Given the description of an element on the screen output the (x, y) to click on. 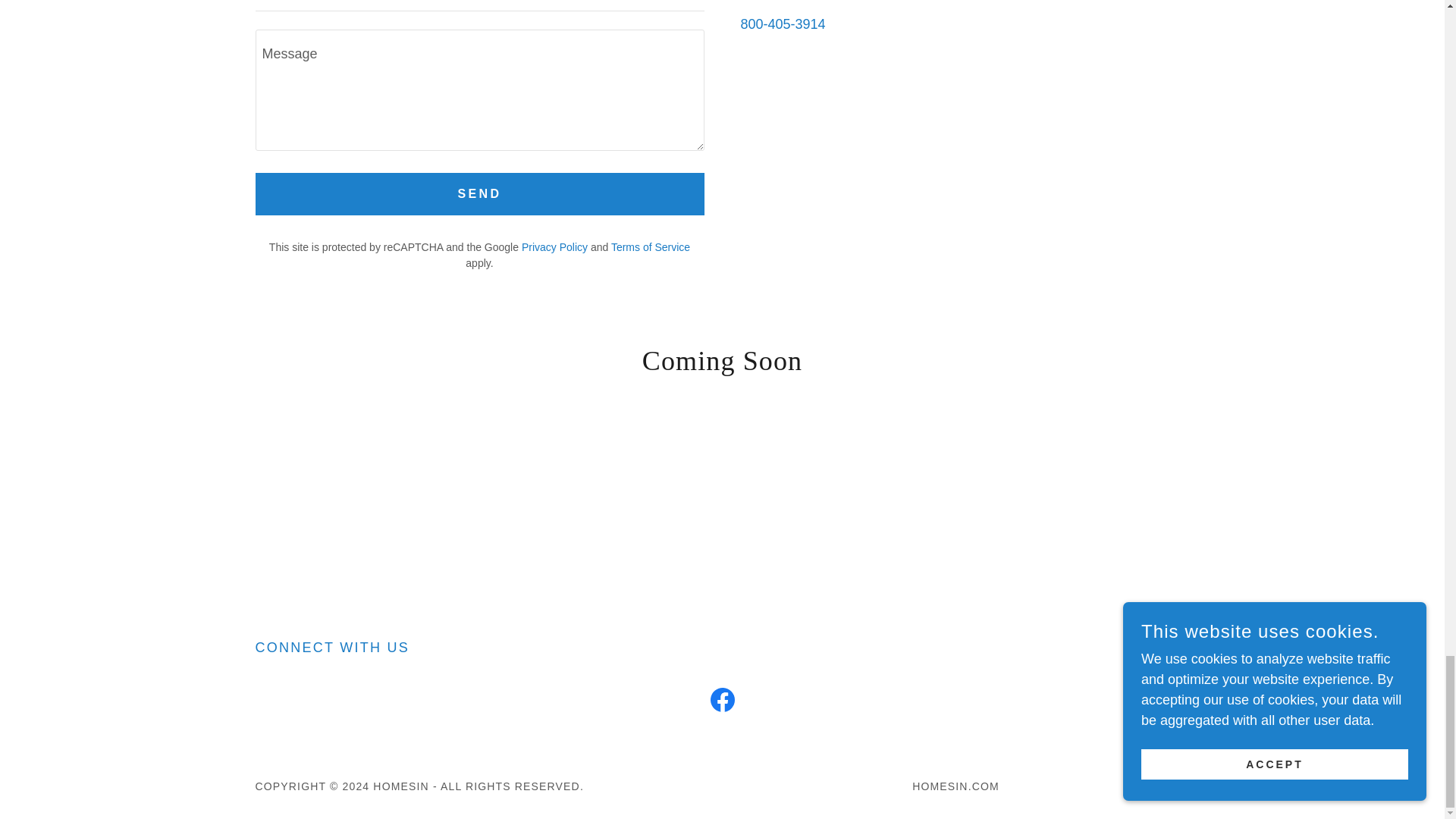
Terms of Service (650, 246)
SEND (478, 193)
Privacy Policy (554, 246)
